Given the description of an element on the screen output the (x, y) to click on. 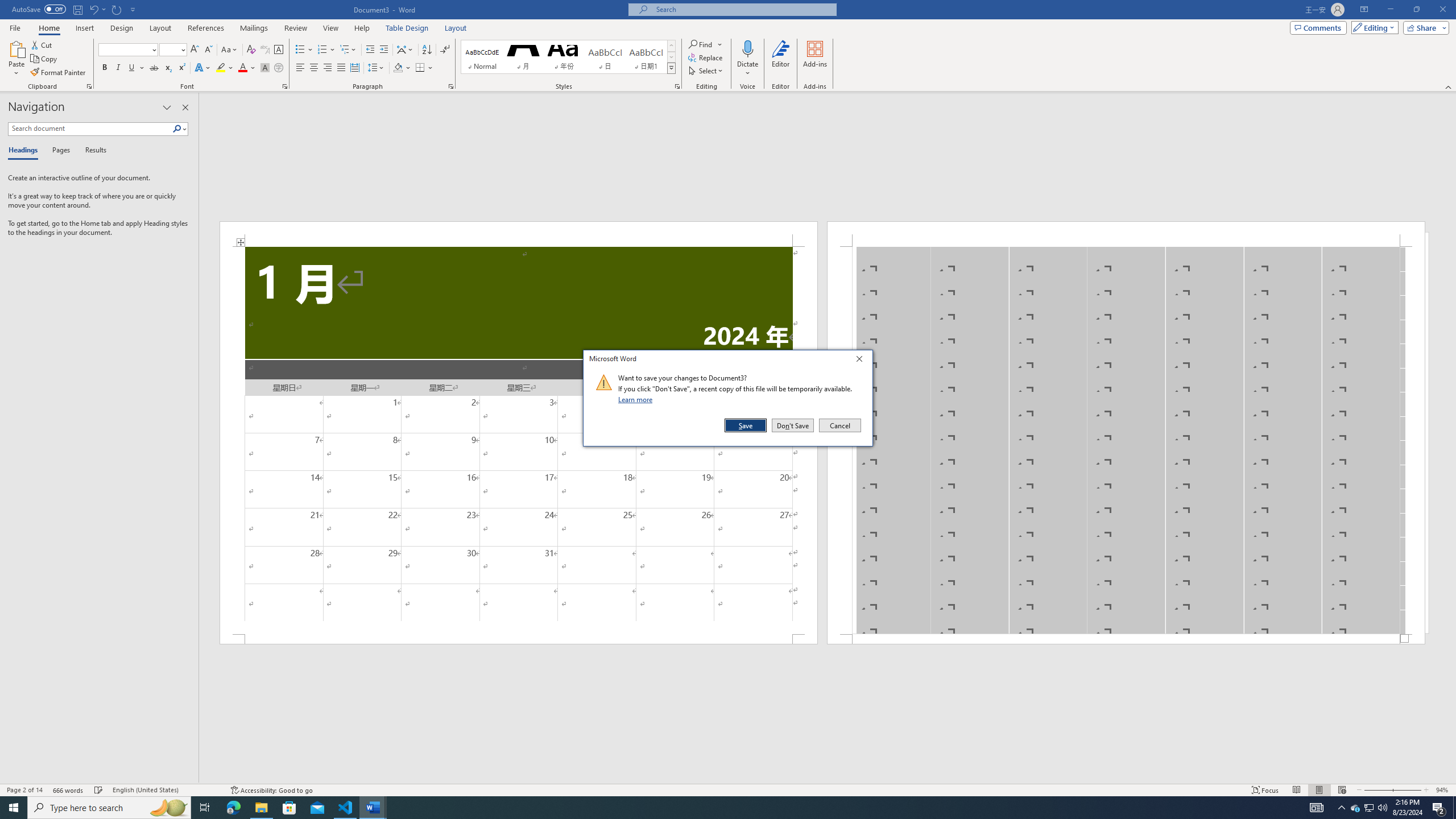
Office Clipboard... (88, 85)
Grow Font (193, 49)
Type here to search (108, 807)
Spelling and Grammar Check Checking (98, 790)
Align Right (327, 67)
